Given the description of an element on the screen output the (x, y) to click on. 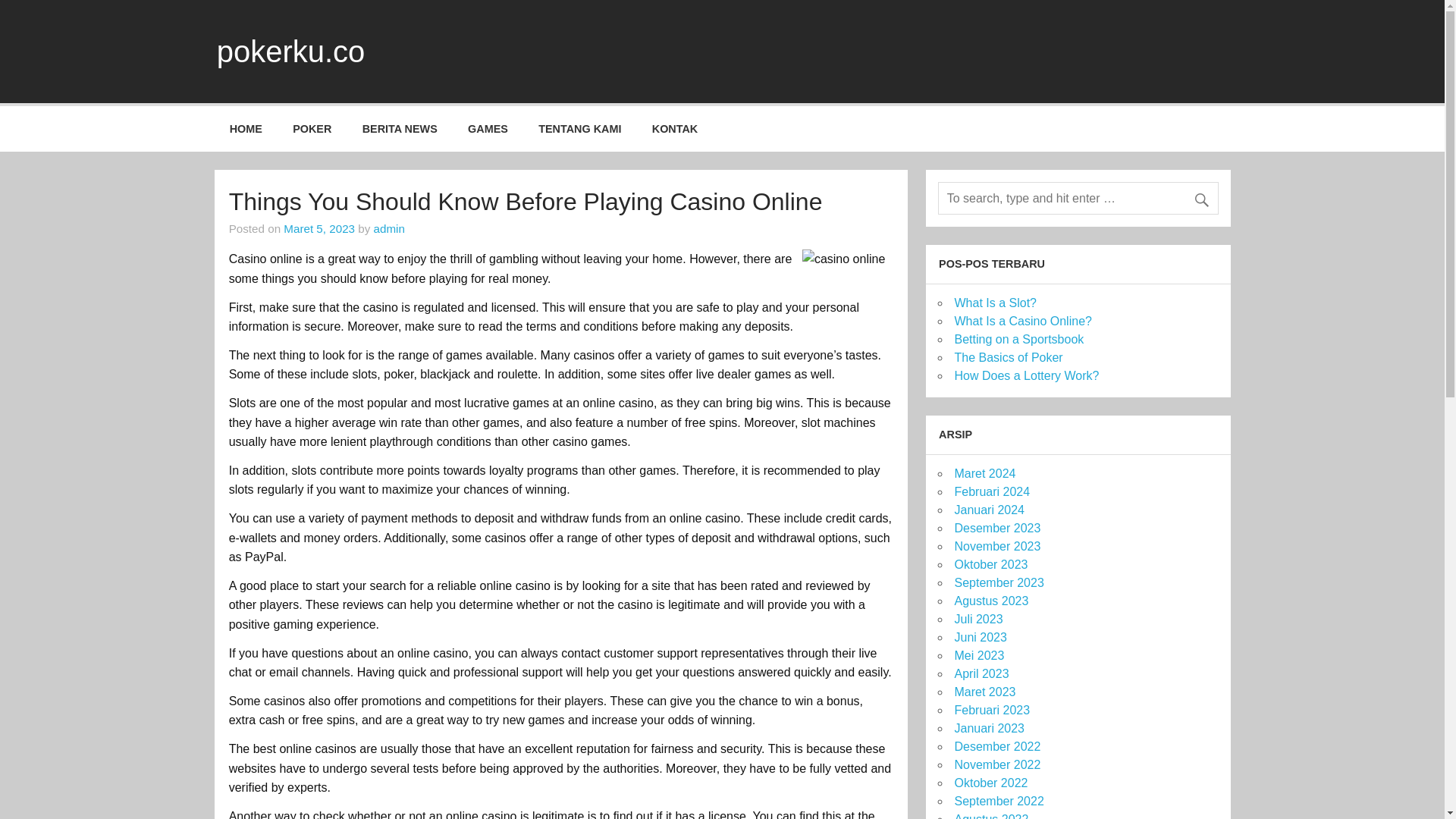
BERITA NEWS (399, 128)
POKER (312, 128)
Maret 5, 2023 (319, 228)
April 2023 (981, 673)
What Is a Slot? (994, 302)
Februari 2023 (991, 709)
November 2023 (997, 545)
Juni 2023 (979, 636)
Oktober 2022 (990, 782)
Februari 2024 (991, 491)
Desember 2023 (997, 527)
Desember 2022 (997, 746)
Oktober 2023 (990, 563)
admin (389, 228)
1:51 am (319, 228)
